Given the description of an element on the screen output the (x, y) to click on. 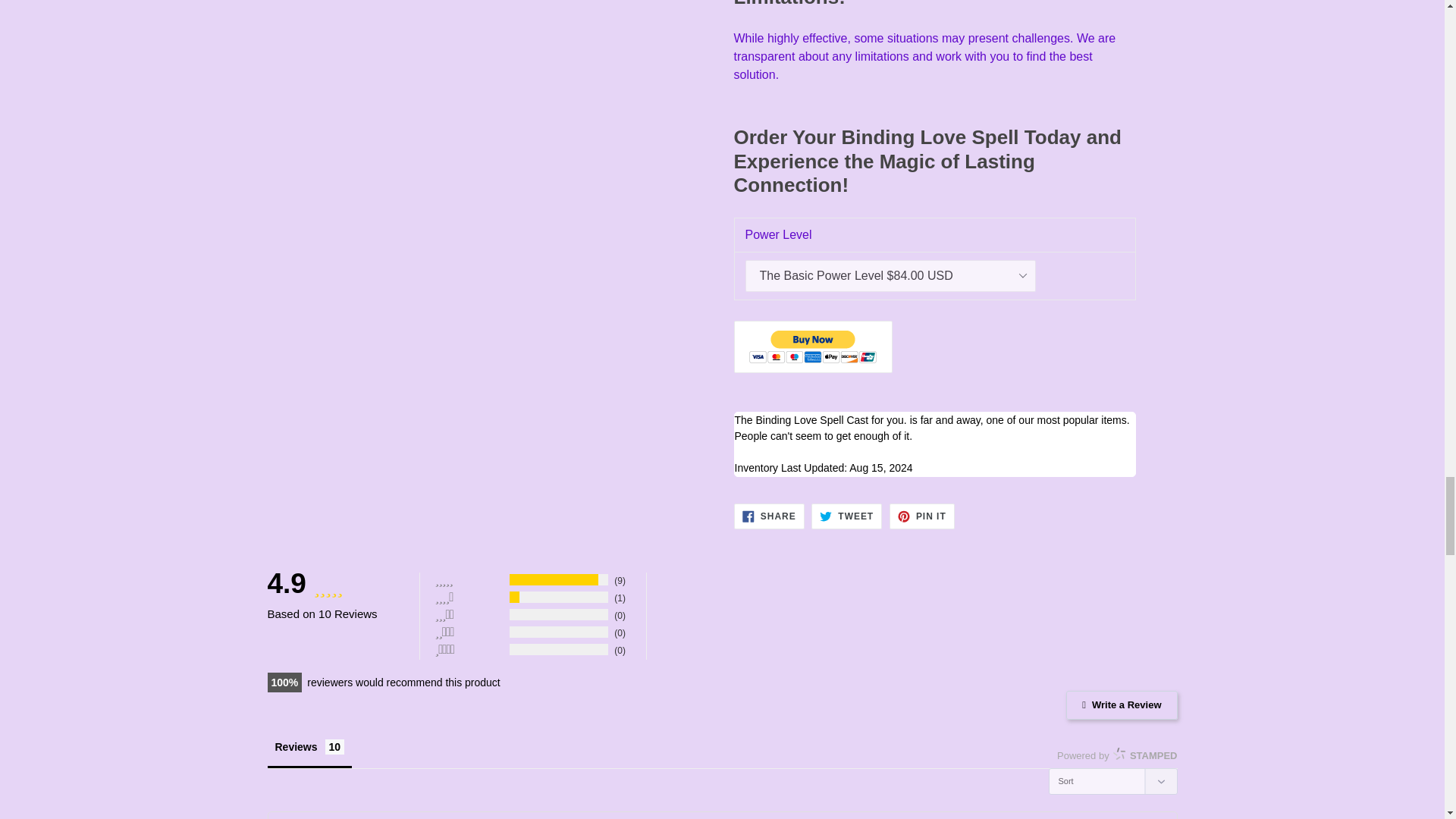
Share on Facebook (769, 516)
Tweet on Twitter (846, 516)
Pin on Pinterest (922, 516)
